Given the description of an element on the screen output the (x, y) to click on. 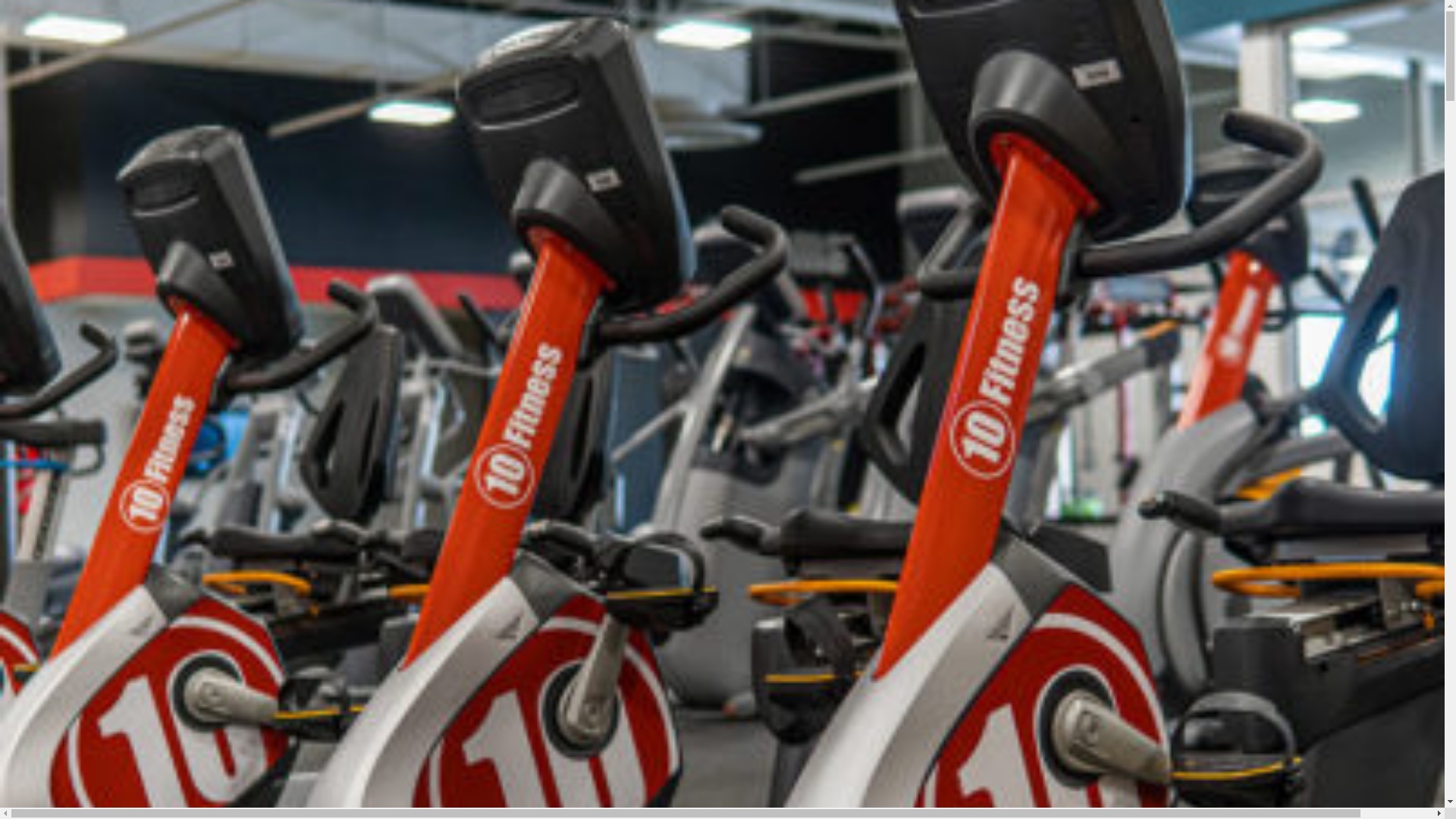
CARDIO CINEMA Element type: text (116, 374)
MAUMELLE Element type: text (104, 276)
ACCOUNT Element type: text (71, 558)
GET A TRAINER Element type: text (113, 488)
JONESBORO Element type: text (107, 212)
PERSONAL TRAINING Element type: text (96, 471)
STORE Element type: text (64, 521)
WEST CONWAY Element type: text (114, 197)
EXTRAS Element type: text (67, 357)
UNIVERSITY Element type: text (107, 260)
BECOME A TRAINER Element type: text (124, 504)
CAREERS Element type: text (70, 539)
CORPORATE PLANS Element type: text (123, 454)
BLOG Element type: text (92, 438)
DOWNTOWN LITTLE ROCK Element type: text (137, 228)
CLASSES ON-DEMAND Element type: text (129, 406)
OWN A 10 FITNESS Element type: text (92, 576)
PARAGOULD Element type: text (107, 308)
LOCATIONS Element type: text (75, 132)
CONWAY Element type: text (99, 181)
LEVEL 10 TEAM TRAINING Element type: text (136, 422)
BRYANT Element type: text (97, 149)
LEVEL 10 + CLASS SCHEDULES Element type: text (148, 390)
NORTH LITTLE ROCK Element type: text (125, 292)
RODNEY PARHAM Element type: text (119, 244)
SEARCY Element type: text (98, 324)
CABOT Element type: text (95, 165)
JOIN NOW Element type: text (74, 606)
SPRINGFIELD Element type: text (109, 340)
